Given the description of an element on the screen output the (x, y) to click on. 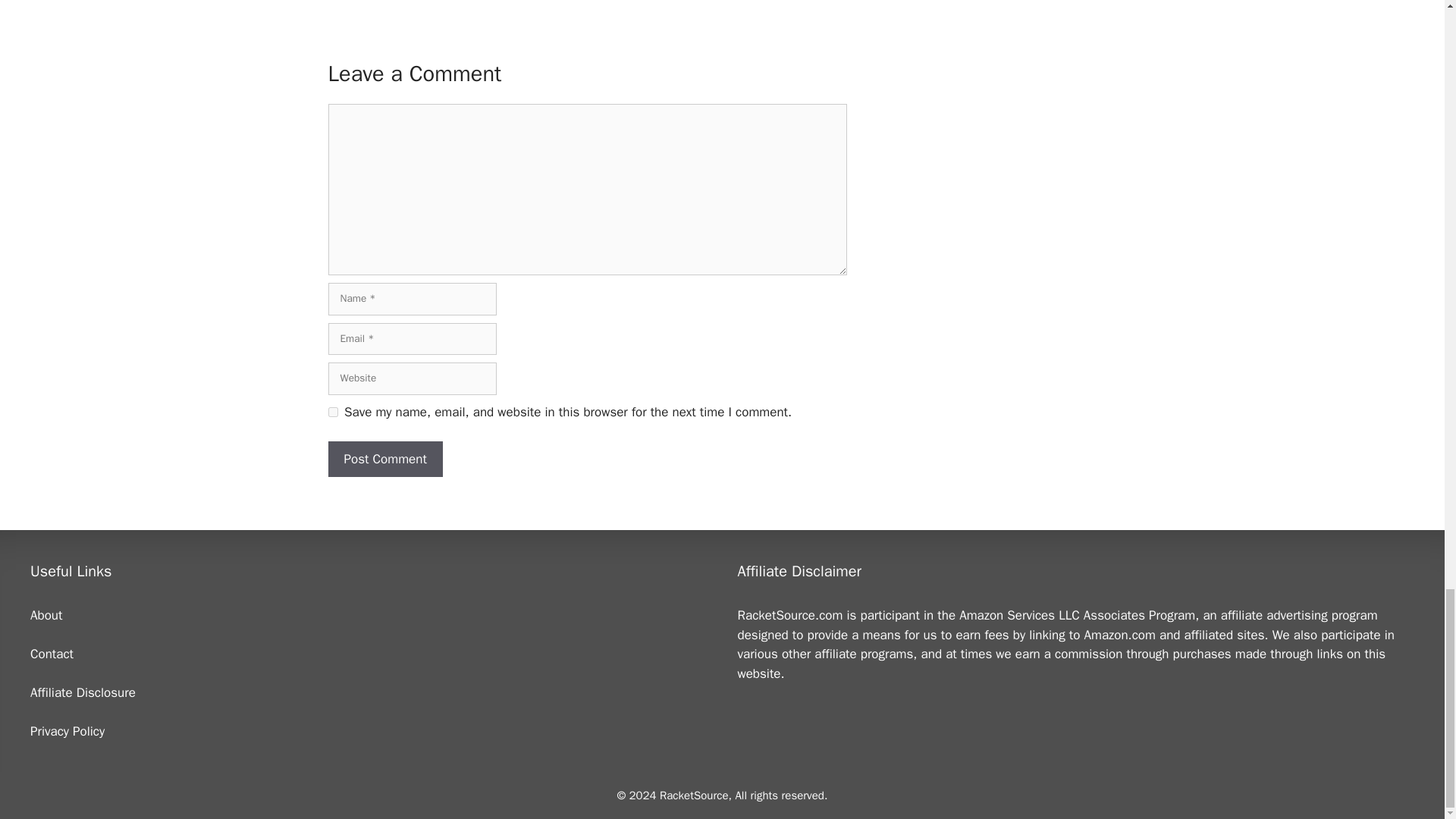
Post Comment (384, 459)
Privacy Policy (67, 731)
Post Comment (384, 459)
Contact (52, 653)
yes (332, 411)
Affiliate Disclosure (82, 692)
About (46, 615)
